Given the description of an element on the screen output the (x, y) to click on. 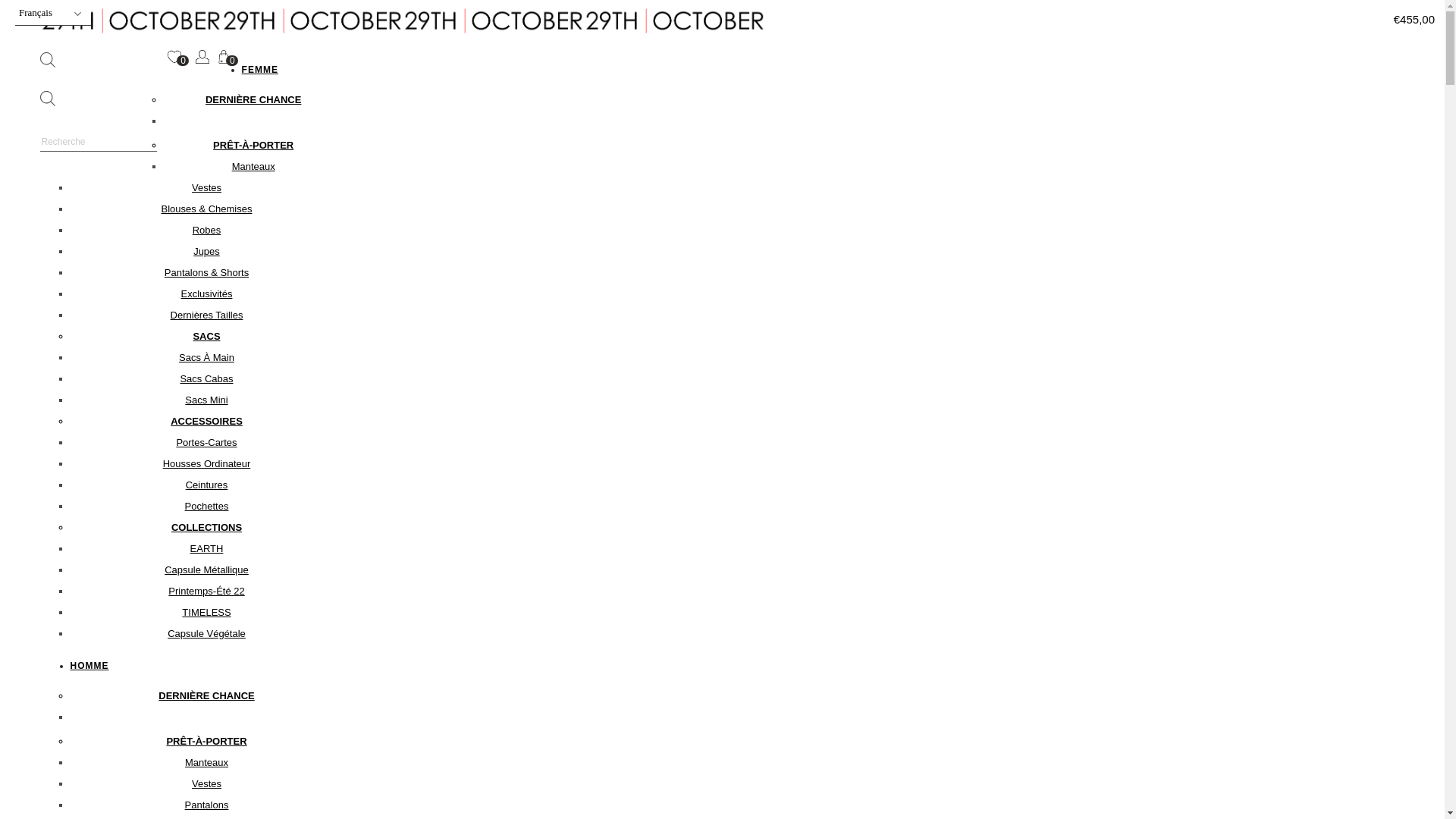
Manteaux Element type: text (206, 762)
Ceintures Element type: text (206, 484)
Blouses & Chemises Element type: text (206, 208)
Pantalons Element type: text (207, 804)
Effacer les filtres Element type: text (696, 217)
Pantalons & Shorts Element type: text (206, 272)
Vestes Element type: text (206, 783)
Manteaux Element type: text (253, 166)
TIMELESS Element type: text (206, 612)
Jupes Element type: text (206, 251)
Housses Ordinateur Element type: text (207, 463)
Sacs Cabas Element type: text (205, 378)
ACCESSOIRES Element type: text (206, 420)
EARTH Element type: text (206, 548)
Sacs Mini Element type: text (206, 399)
Robes Element type: text (206, 229)
Pochettes Element type: text (207, 505)
HOMME Element type: text (88, 665)
Portes-Cartes Element type: text (205, 442)
SACS Element type: text (205, 336)
COLLECTIONS Element type: text (206, 527)
Vestes Element type: text (206, 187)
FEMME Element type: text (259, 69)
